Given the description of an element on the screen output the (x, y) to click on. 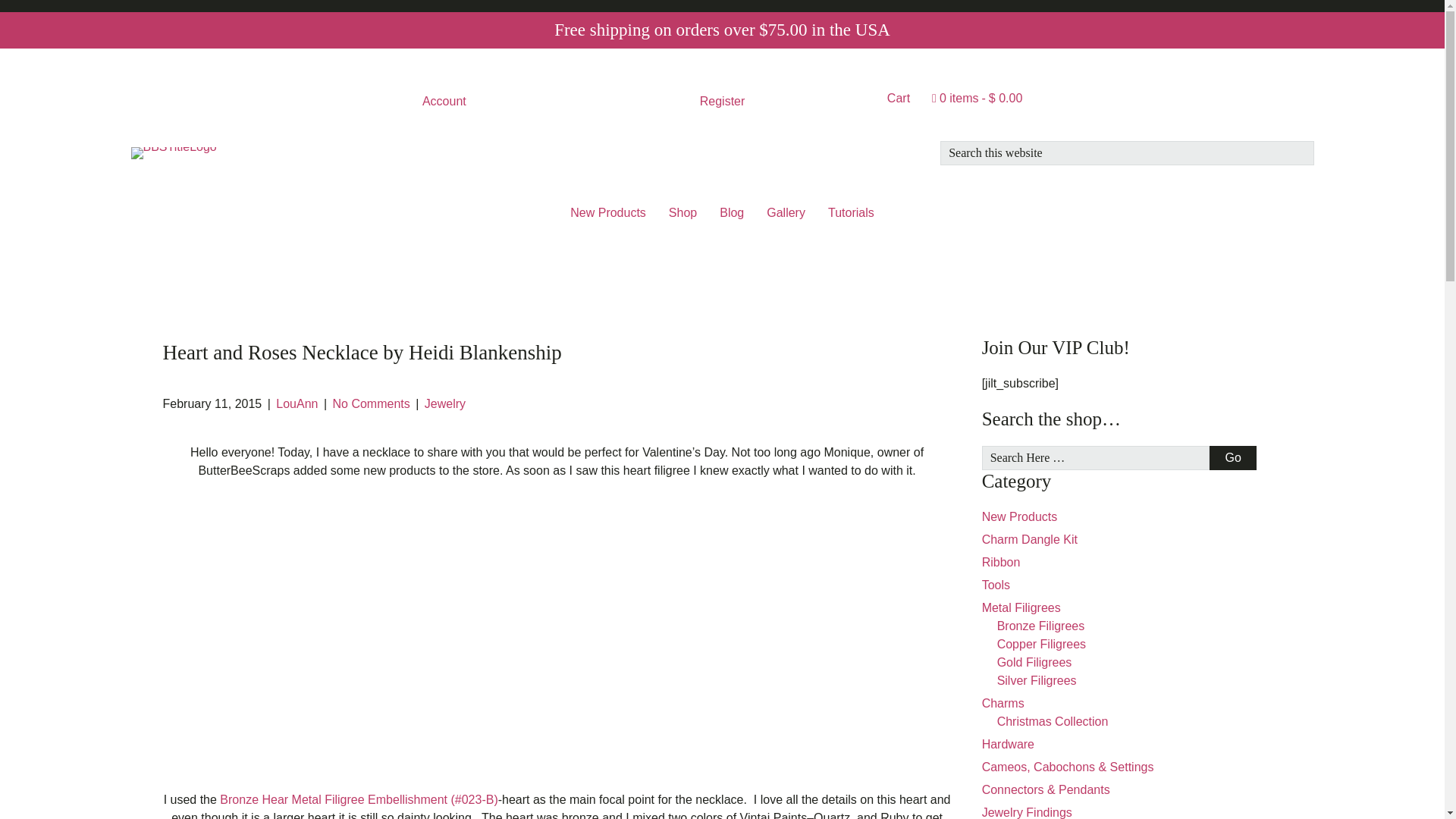
New Products (607, 212)
Blog (731, 212)
Tutorials (851, 212)
Shop (682, 212)
Go (1232, 457)
Gallery (785, 212)
Cart (898, 97)
BBSTitleLogo (173, 152)
